Given the description of an element on the screen output the (x, y) to click on. 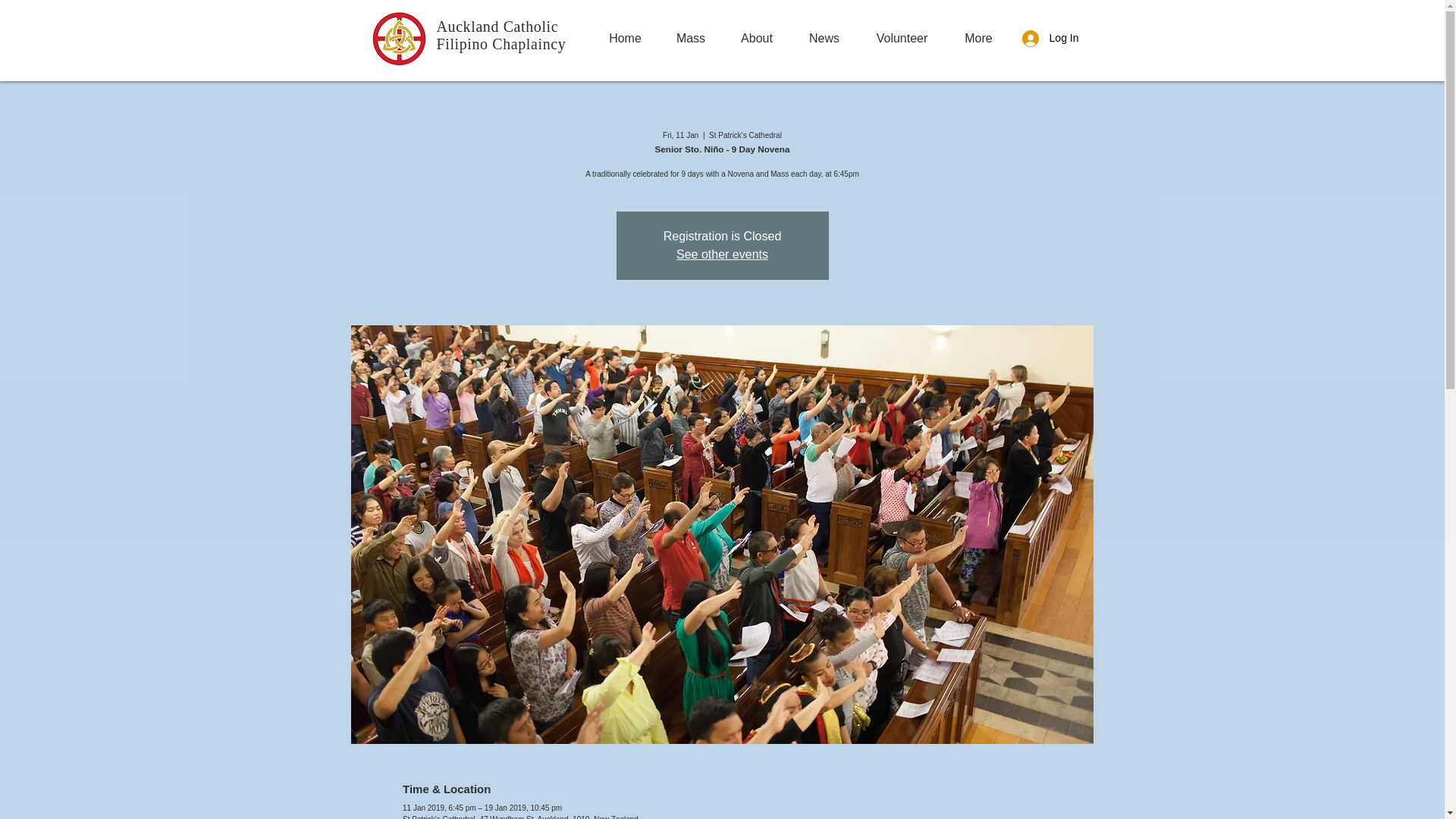
Volunteer (901, 38)
Auckland Catholic Filipino Chaplaincy (501, 35)
About (756, 38)
Log In (1050, 38)
See other events (722, 254)
